Given the description of an element on the screen output the (x, y) to click on. 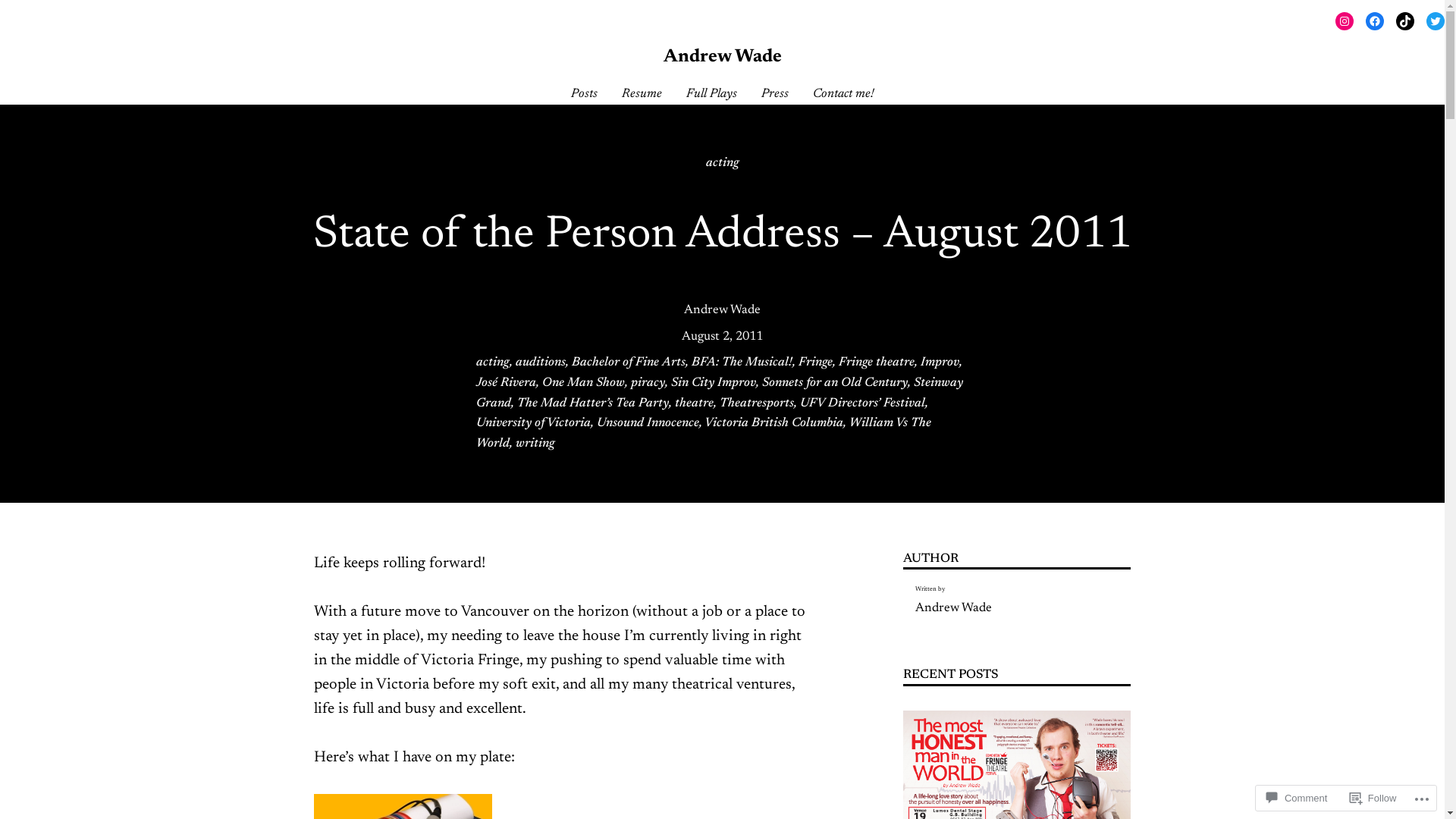
Victoria British Columbia Element type: text (772, 423)
Sonnets for an Old Century Element type: text (833, 382)
Bachelor of Fine Arts Element type: text (628, 362)
Fringe Element type: text (814, 362)
Sin City Improv Element type: text (712, 382)
Contact me! Element type: text (842, 94)
One Man Show Element type: text (582, 382)
Andrew Wade Element type: text (722, 310)
University of Victoria Element type: text (533, 423)
Resume Element type: text (641, 94)
Steinway Grand Element type: text (719, 392)
Posts Element type: text (584, 94)
Comment Element type: text (1296, 797)
Fringe theatre Element type: text (876, 362)
piracy Element type: text (647, 382)
Andrew Wade Element type: text (953, 608)
Improv Element type: text (939, 362)
acting Element type: text (722, 162)
William Vs The World Element type: text (703, 433)
writing Element type: text (534, 443)
Press Element type: text (774, 94)
BFA: The Musical! Element type: text (741, 362)
Theatresports Element type: text (755, 403)
acting Element type: text (492, 362)
Unsound Innocence Element type: text (647, 423)
auditions Element type: text (540, 362)
Full Plays Element type: text (711, 94)
Follow Element type: text (1372, 797)
theatre Element type: text (693, 403)
